Given the description of an element on the screen output the (x, y) to click on. 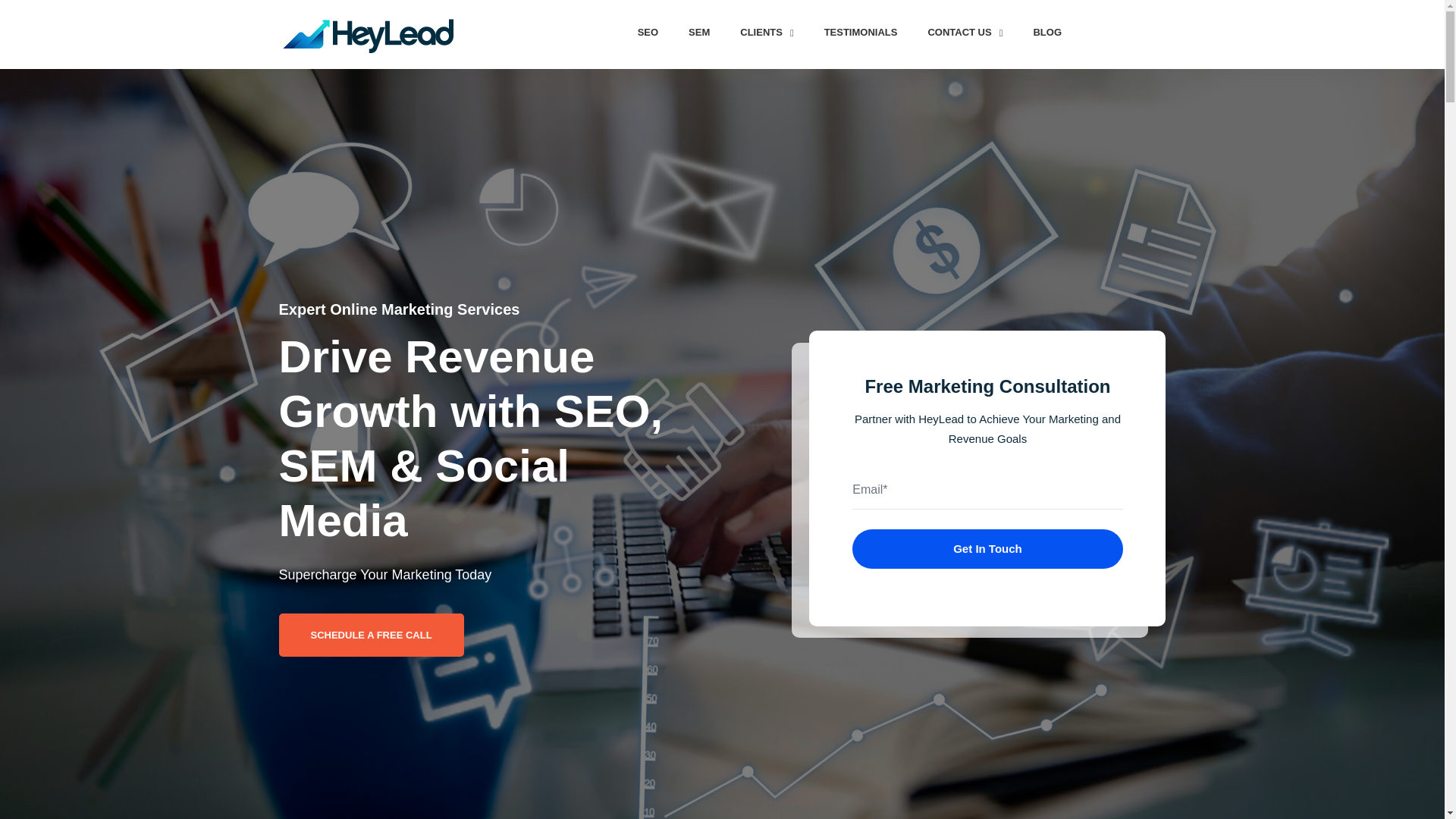
SEO (647, 32)
CONTACT US (964, 32)
SCHEDULE A FREE CALL (371, 634)
SEM (698, 32)
CLIENTS (766, 32)
BLOG (1047, 32)
Get In Touch (986, 548)
TESTIMONIALS (860, 32)
